Given the description of an element on the screen output the (x, y) to click on. 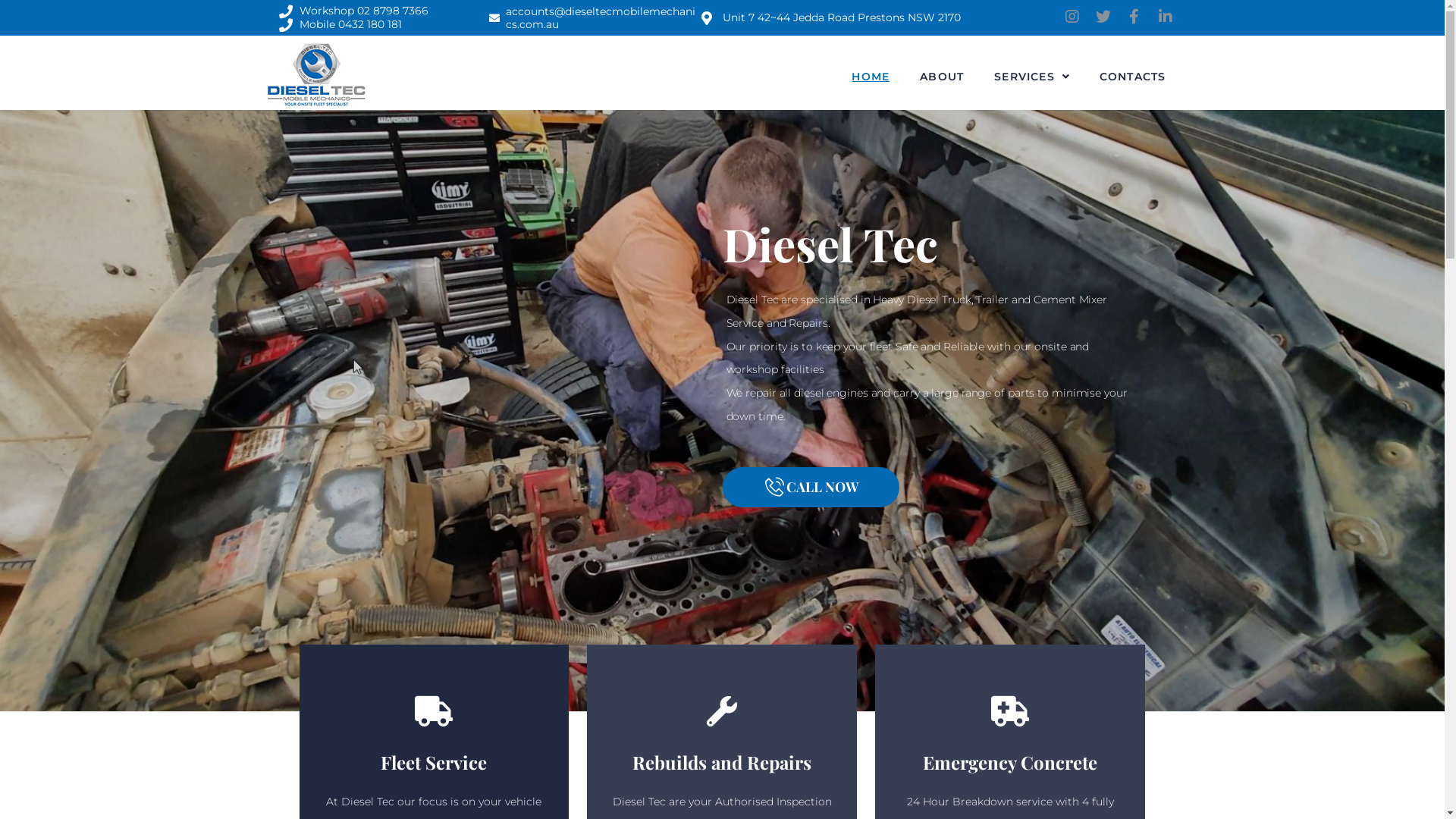
HOME Element type: text (870, 75)
Rebuilds and Repairs Element type: text (721, 761)
Workshop 02 8798 7366 Element type: text (354, 11)
CONTACTS Element type: text (1132, 75)
accounts@dieseltecmobilemechanics.com.au Element type: text (593, 17)
Mobile 0432 180 181 Element type: text (340, 24)
Emergency Concrete Element type: text (1009, 761)
SERVICES Element type: text (1031, 75)
Fleet Service Element type: text (433, 761)
ABOUT Element type: text (941, 75)
CALL NOW Element type: text (809, 487)
